Given the description of an element on the screen output the (x, y) to click on. 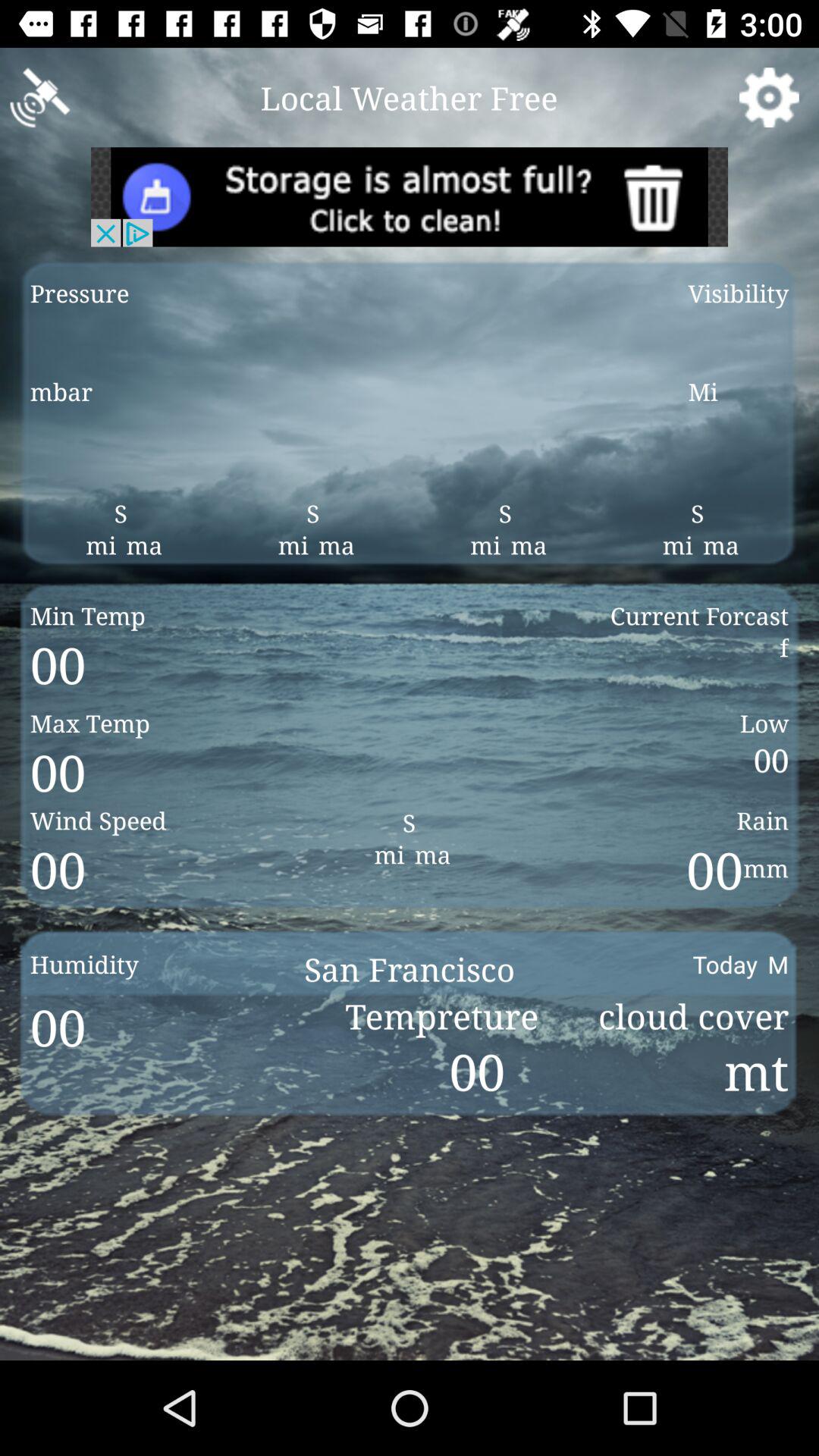
turn on the app to the right of local weather free app (769, 97)
